Given the description of an element on the screen output the (x, y) to click on. 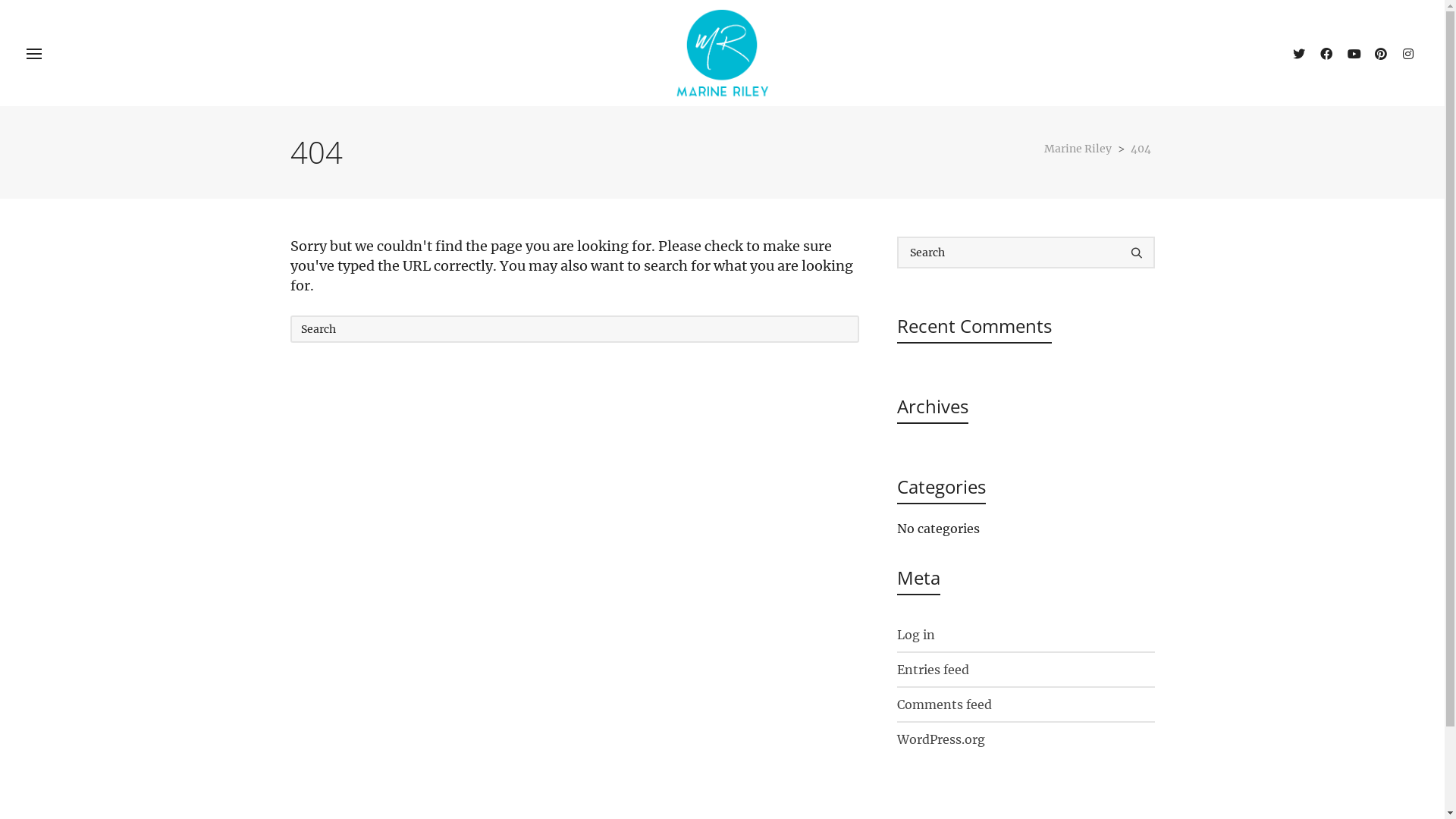
Search Element type: text (1025, 277)
Comments feed Element type: text (1025, 704)
WordPress.org Element type: text (1025, 739)
404 Element type: text (1139, 148)
Marine Riley Element type: text (1076, 148)
Menu Element type: text (33, 54)
Log in Element type: text (1025, 634)
Entries feed Element type: text (1025, 669)
